Given the description of an element on the screen output the (x, y) to click on. 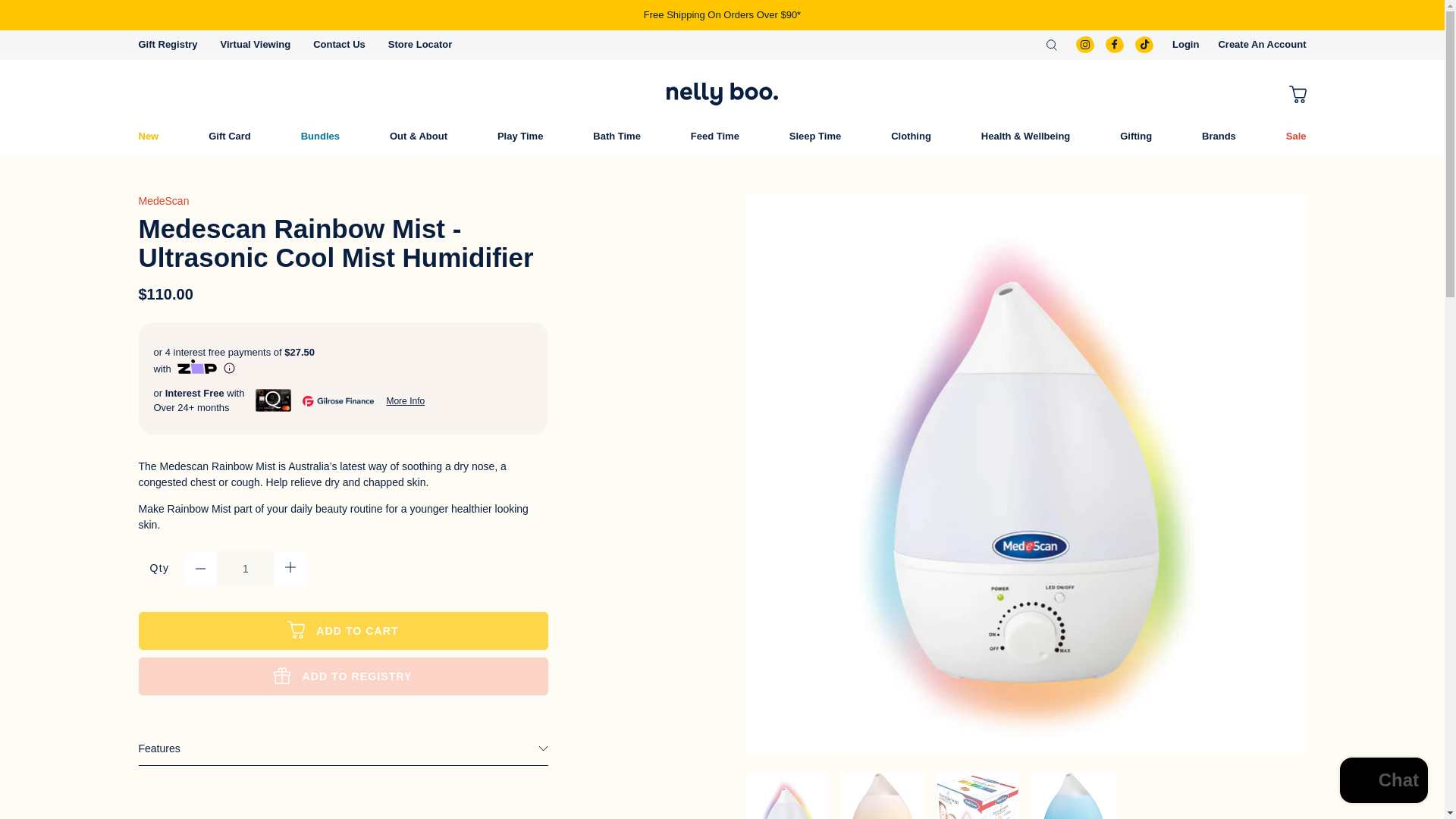
Login (1185, 44)
Store Locator (420, 44)
Shopify online store chat (1383, 781)
Bundles (320, 136)
1 (244, 568)
Gift Registry (167, 44)
Virtual Viewing (256, 44)
Gift Card (229, 136)
Create An Account (1261, 44)
Contact Us (339, 44)
